Given the description of an element on the screen output the (x, y) to click on. 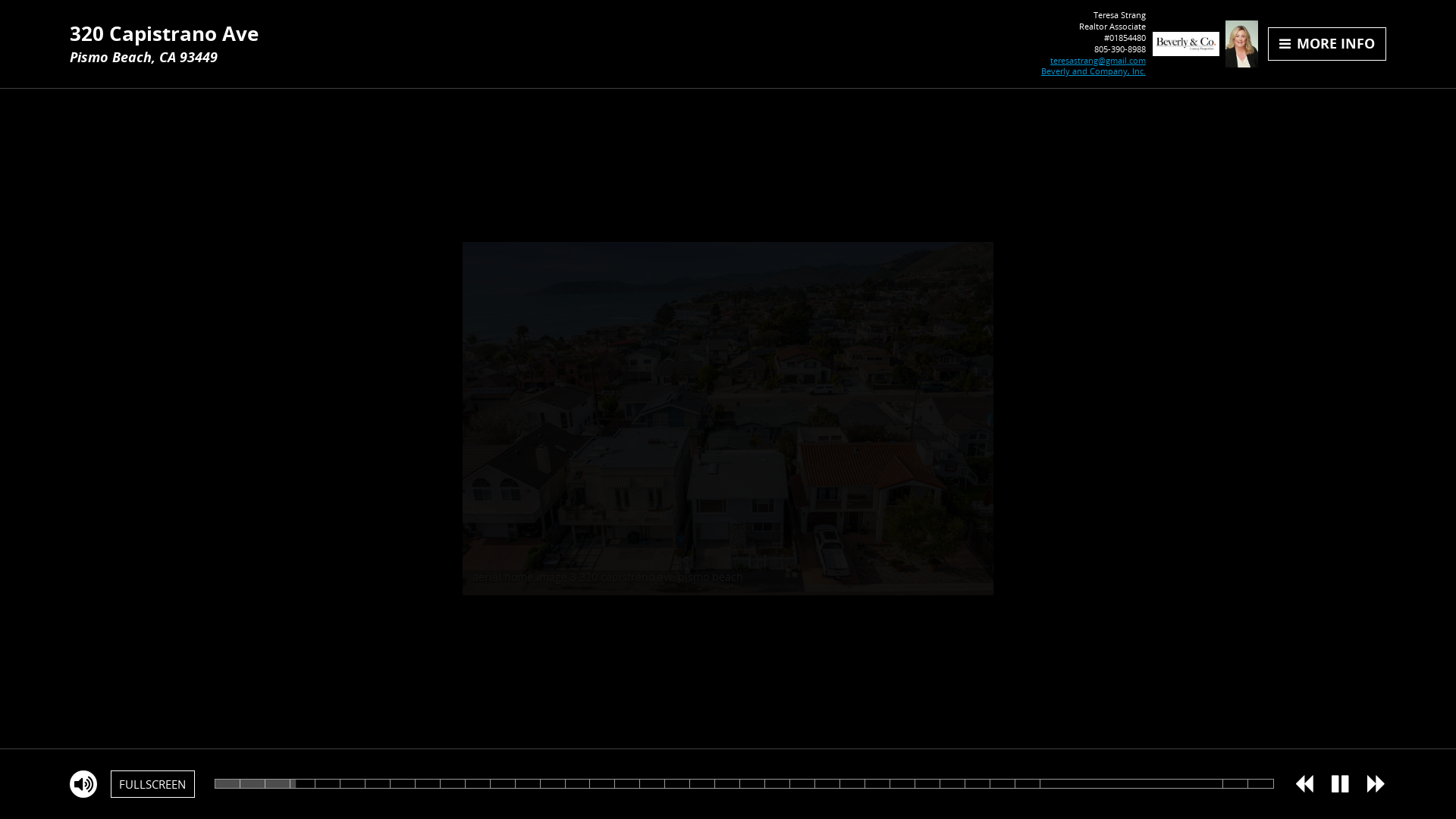
Beverly and Company, Inc. Element type: text (1093, 70)
MORE INFO Element type: text (1326, 43)
teresastrang@gmail.com Element type: text (1097, 59)
805-390-8988 Element type: text (1119, 48)
